Given the description of an element on the screen output the (x, y) to click on. 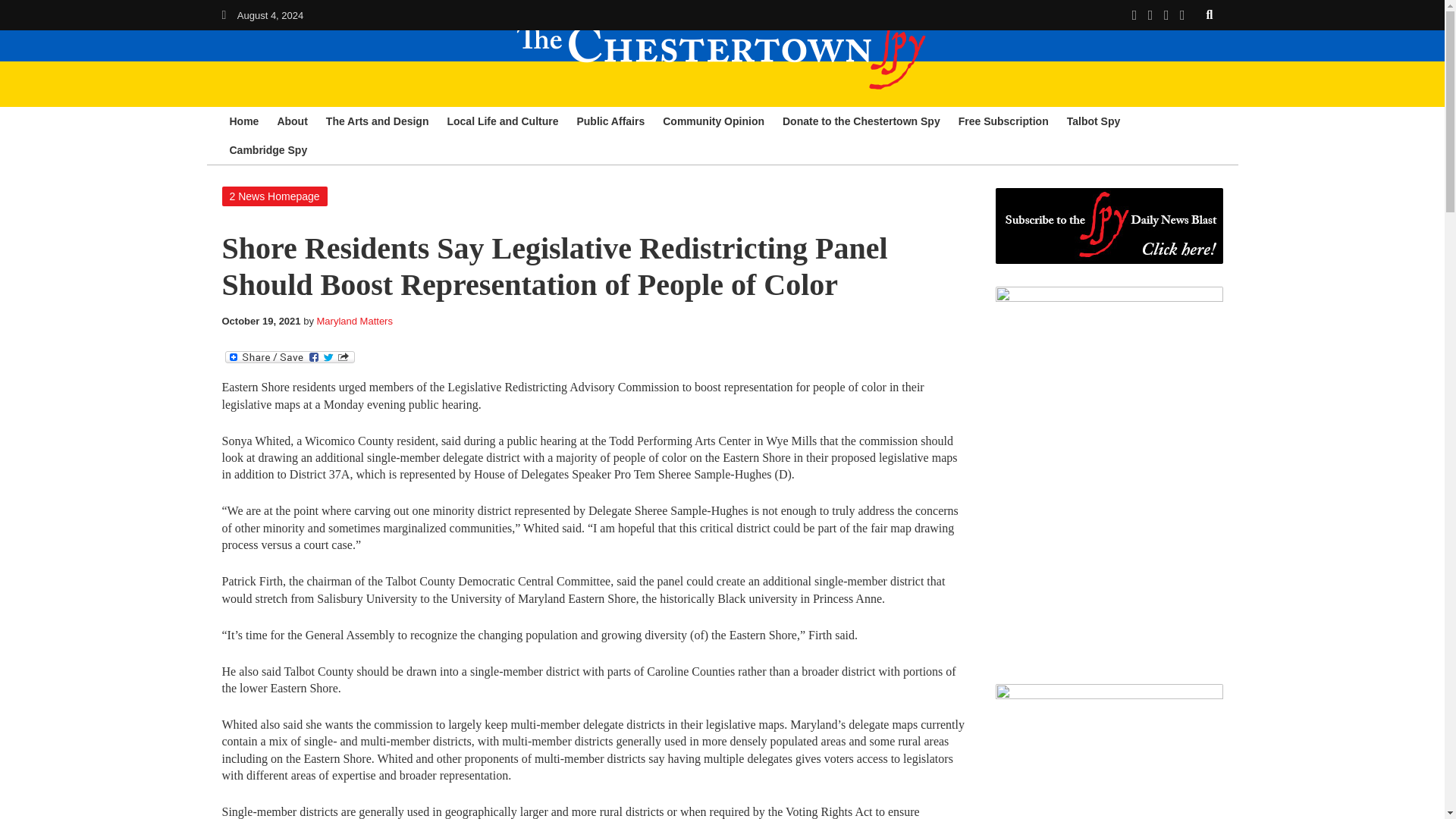
Search (1209, 14)
Back to Chestertown Spy Homepage (223, 14)
Search (1209, 14)
Search (1209, 14)
